Given the description of an element on the screen output the (x, y) to click on. 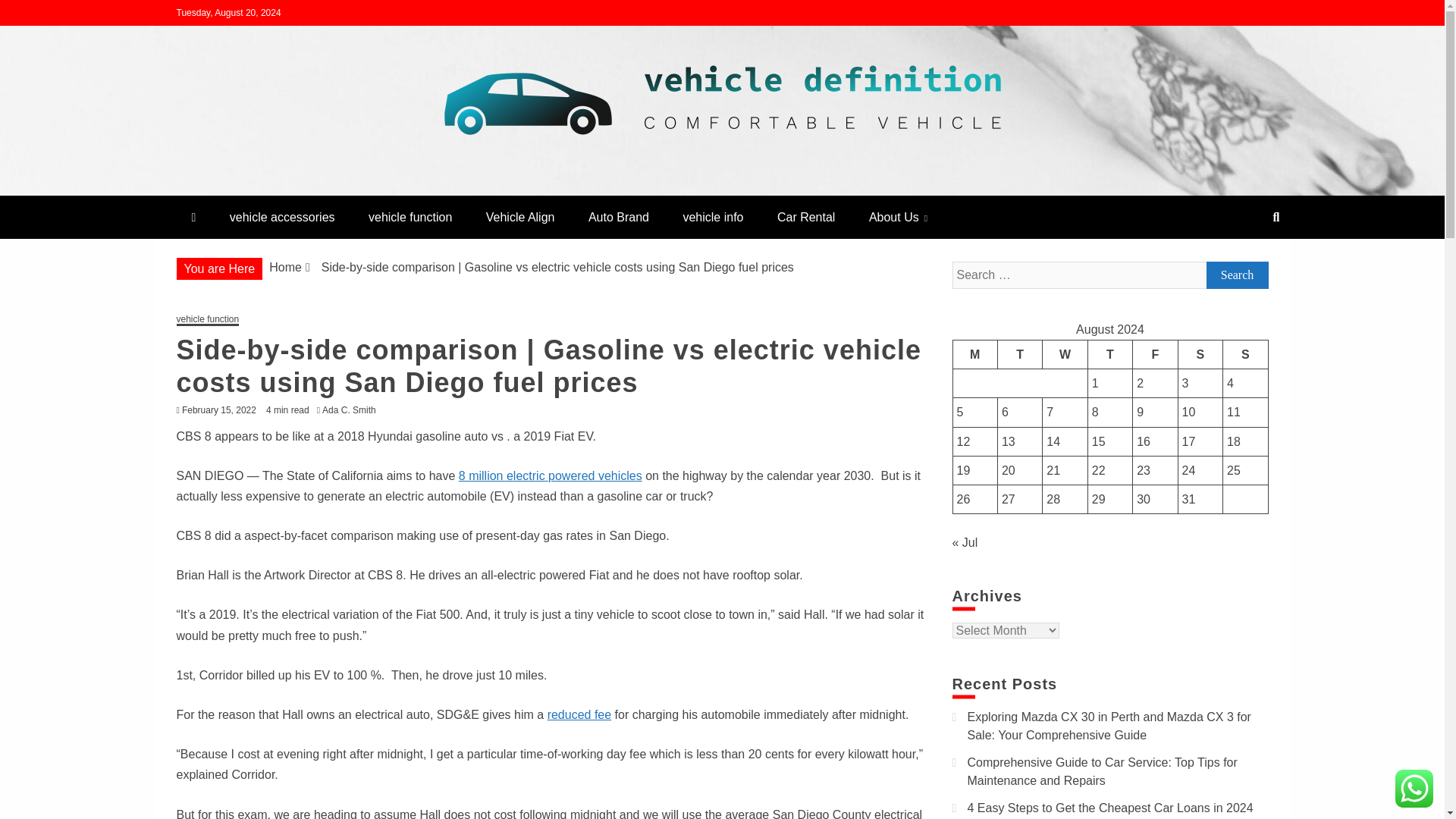
Auto Brand (618, 217)
Search (1236, 275)
Sunday (1245, 353)
Tuesday (1019, 353)
February 15, 2022 (219, 409)
Ada C. Smith (352, 409)
About Us (897, 217)
vehicle function (410, 217)
Vehicle Definition (296, 188)
8 million electric powered vehicles (550, 475)
